Given the description of an element on the screen output the (x, y) to click on. 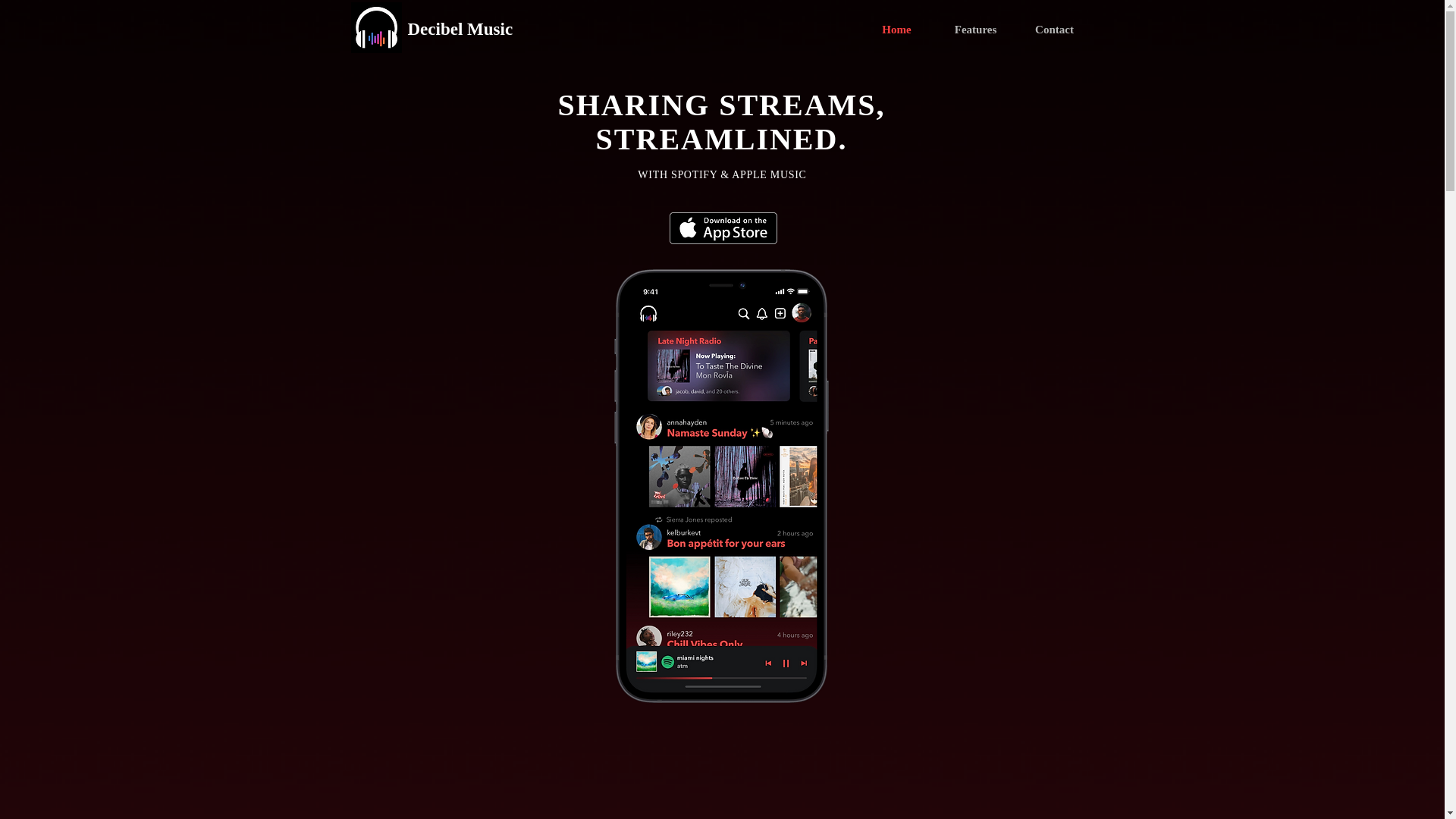
Features (975, 29)
Home (896, 29)
Contact (1053, 29)
Decibel Music (583, 29)
